Given the description of an element on the screen output the (x, y) to click on. 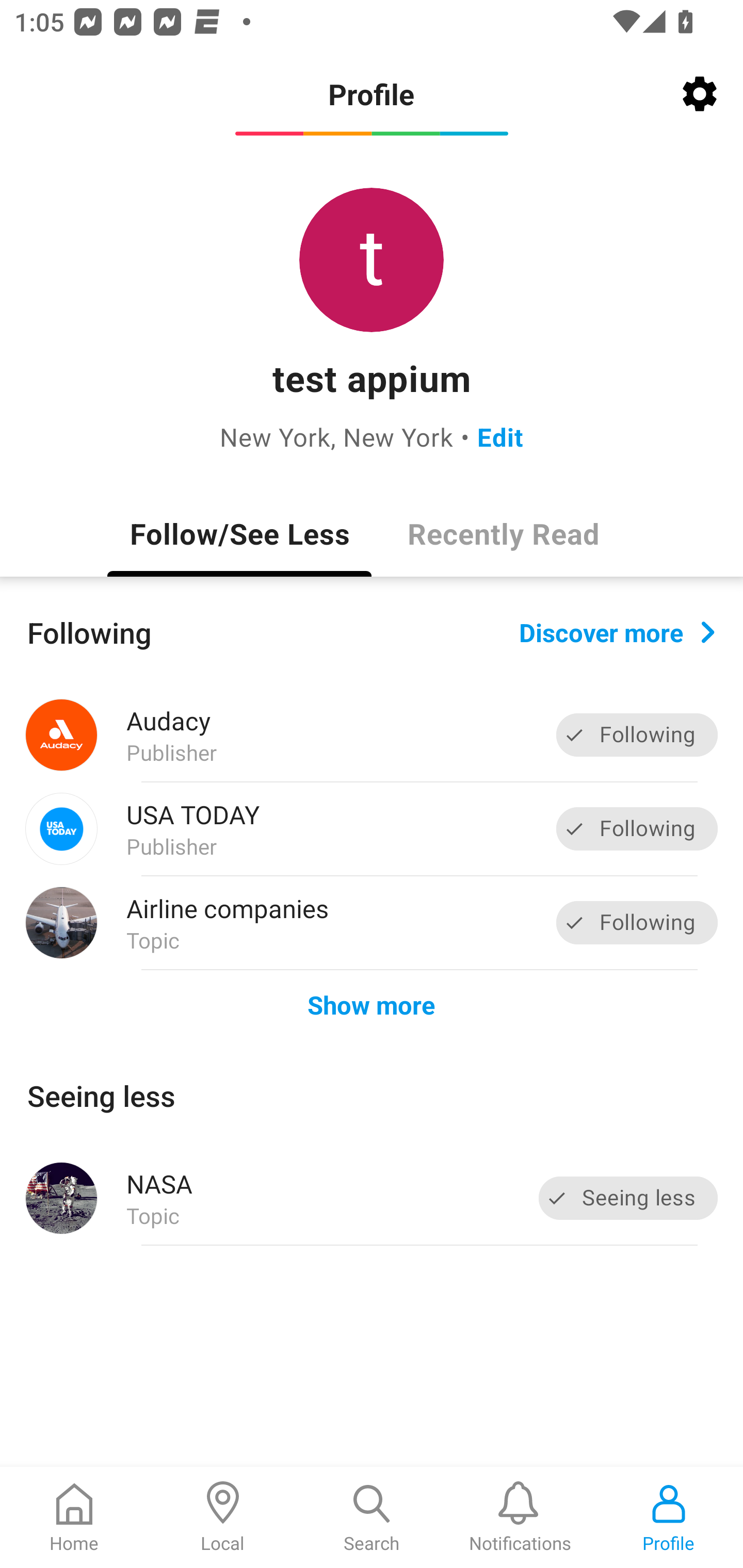
Settings (699, 93)
Edit (500, 436)
Recently Read (503, 533)
Discover more (617, 631)
Audacy Publisher Following (371, 735)
Following (636, 735)
USA TODAY Publisher Following (371, 829)
Following (636, 828)
Airline companies Topic Following (371, 922)
Following (636, 922)
Show more (371, 1004)
NASA Topic Seeing less (371, 1197)
Seeing less (627, 1197)
Home (74, 1517)
Local (222, 1517)
Search (371, 1517)
Notifications (519, 1517)
